Given the description of an element on the screen output the (x, y) to click on. 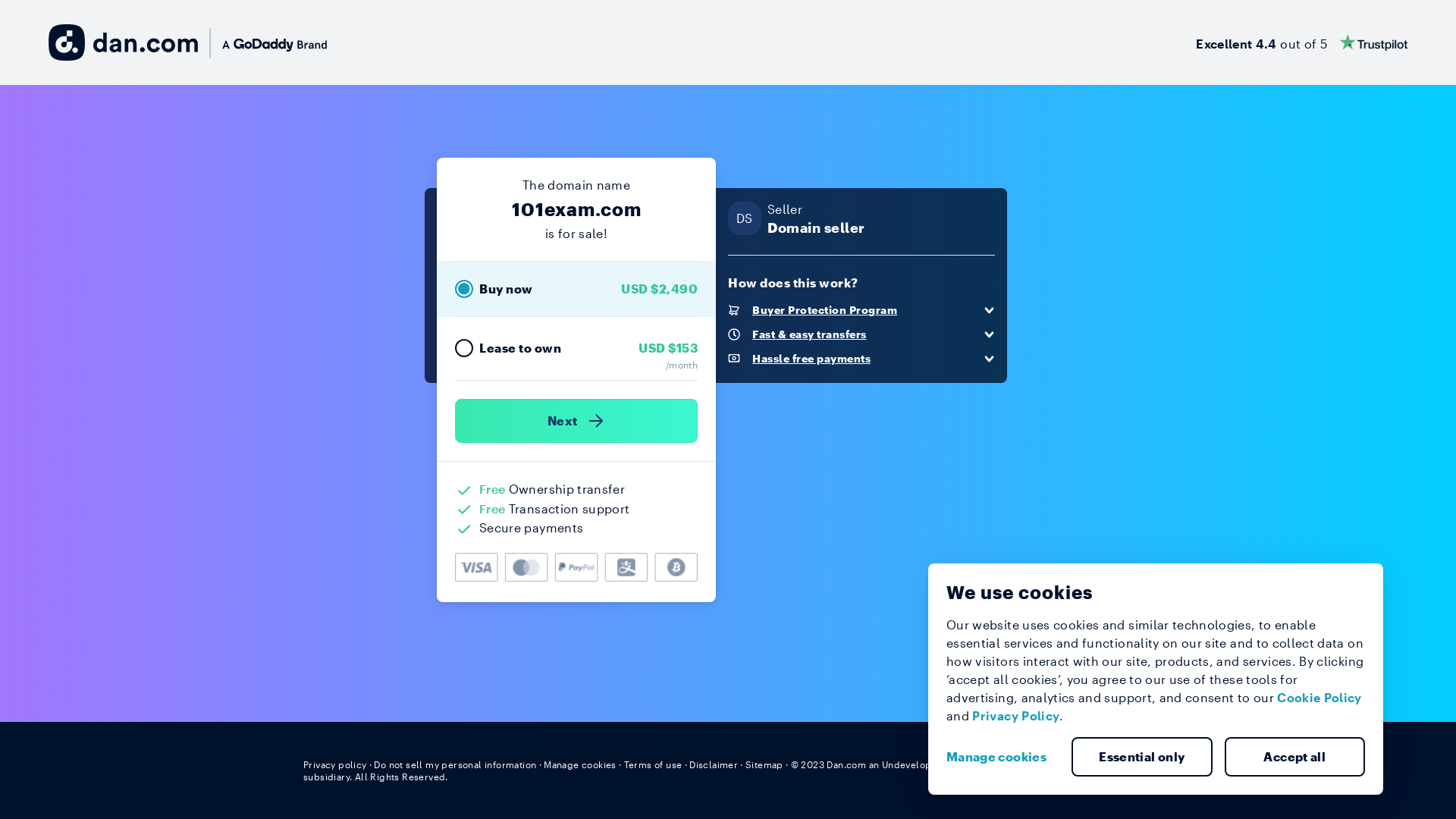
Accept all Element type: text (1294, 756)
Essential only Element type: text (1141, 756)
Disclaimer Element type: text (713, 764)
English Element type: text (1124, 764)
Manage cookies Element type: text (1002, 756)
Manage cookies Element type: text (579, 764)
Sitemap Element type: text (764, 764)
Terms of use Element type: text (653, 764)
Next
) Element type: text (576, 420)
Privacy Policy Element type: text (1015, 715)
Privacy policy Element type: text (335, 764)
Excellent 4.4 out of 5 Element type: text (1301, 42)
Cookie Policy Element type: text (1319, 697)
Do not sell my personal information Element type: text (454, 764)
